Given the description of an element on the screen output the (x, y) to click on. 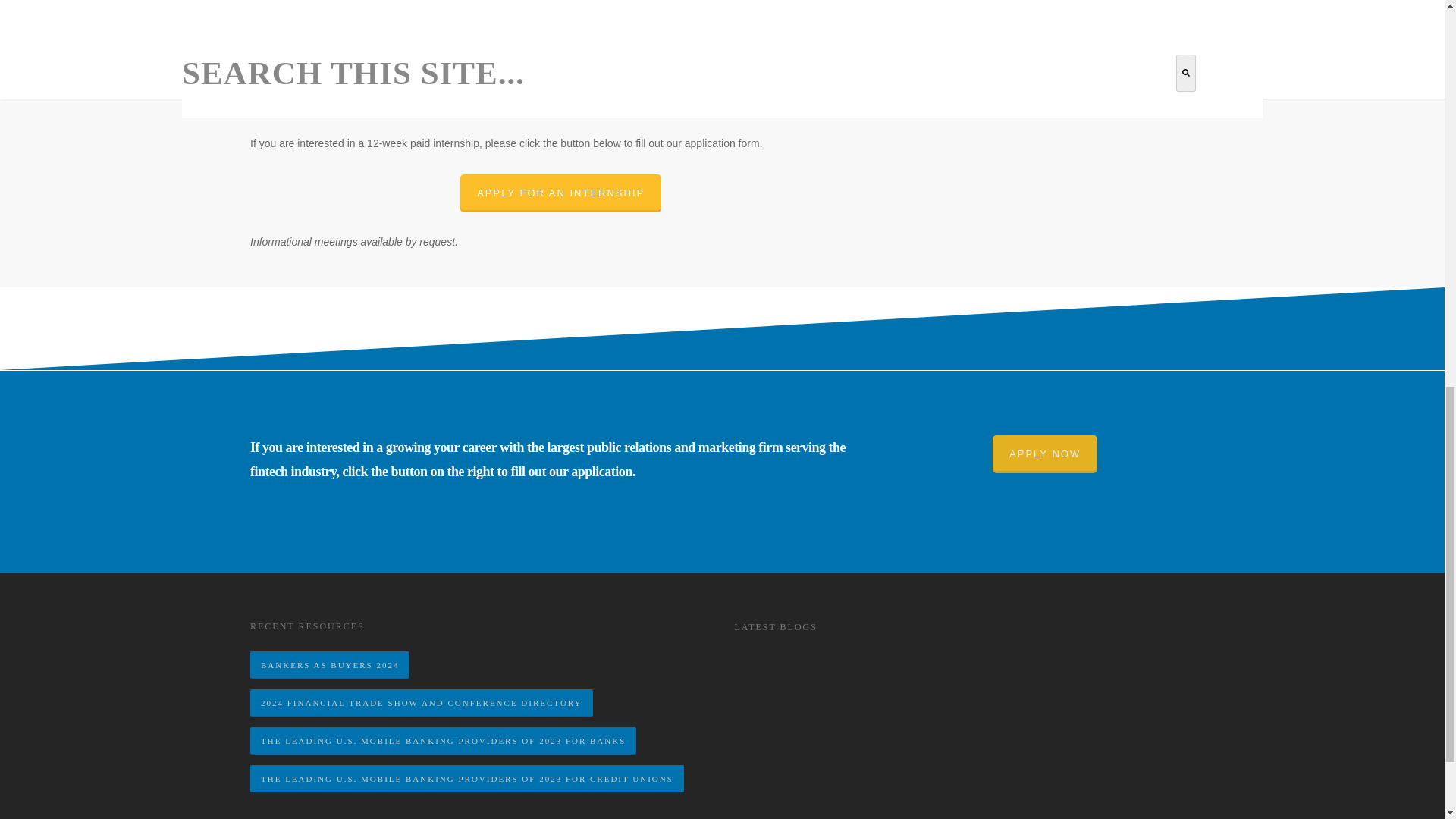
BANKERS AS BUYERS 2024 (329, 664)
APPLY NOW (1044, 453)
2024 FINANCIAL TRADE SHOW AND CONFERENCE DIRECTORY (421, 702)
APPLY FOR AN INTERNSHIP (560, 193)
